Given the description of an element on the screen output the (x, y) to click on. 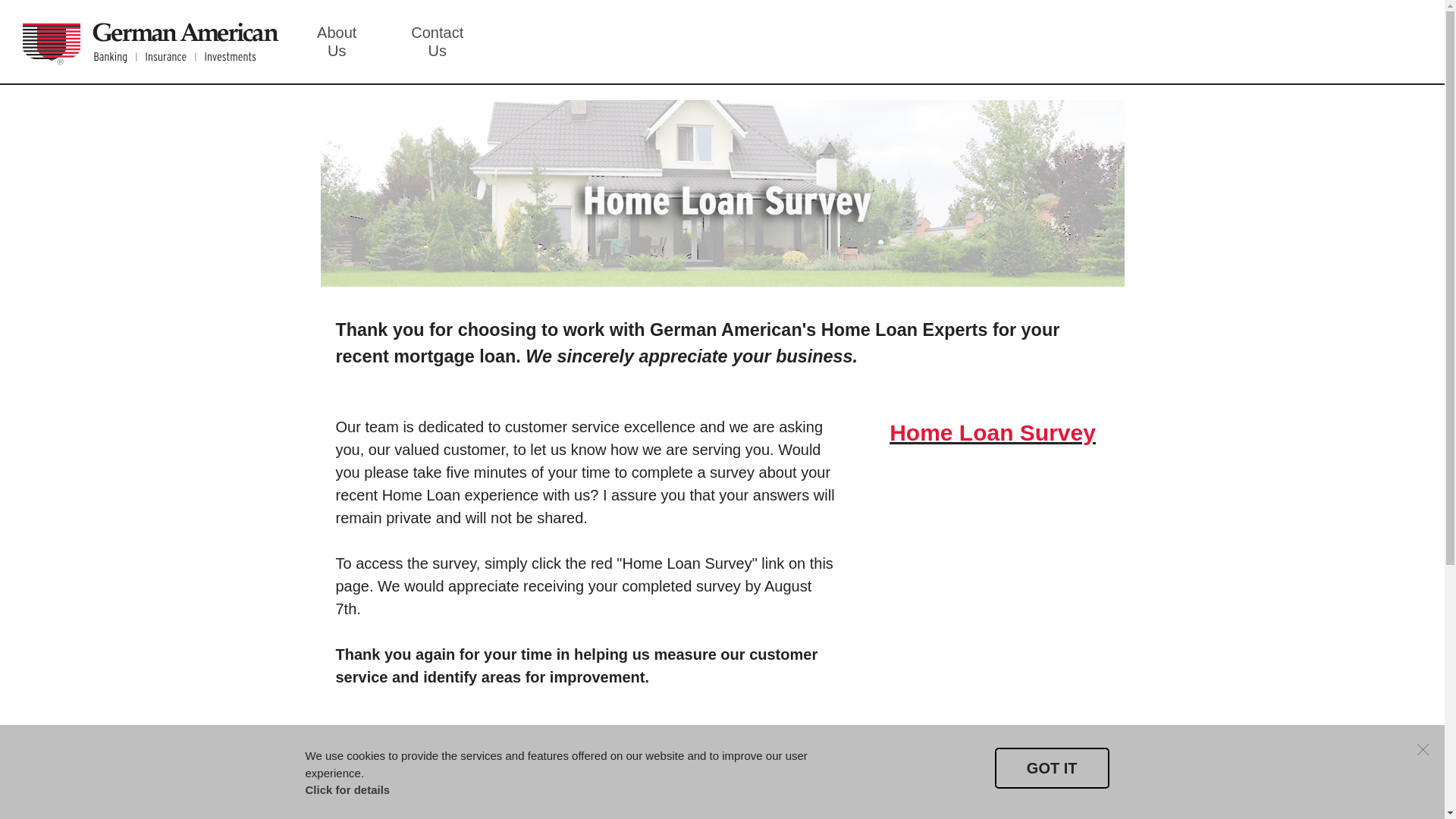
Home Loan Survey (992, 432)
GOT IT (1051, 767)
Home Loan Survey (992, 432)
About Us (336, 41)
Click for details (347, 789)
Contact Us (437, 41)
